Given the description of an element on the screen output the (x, y) to click on. 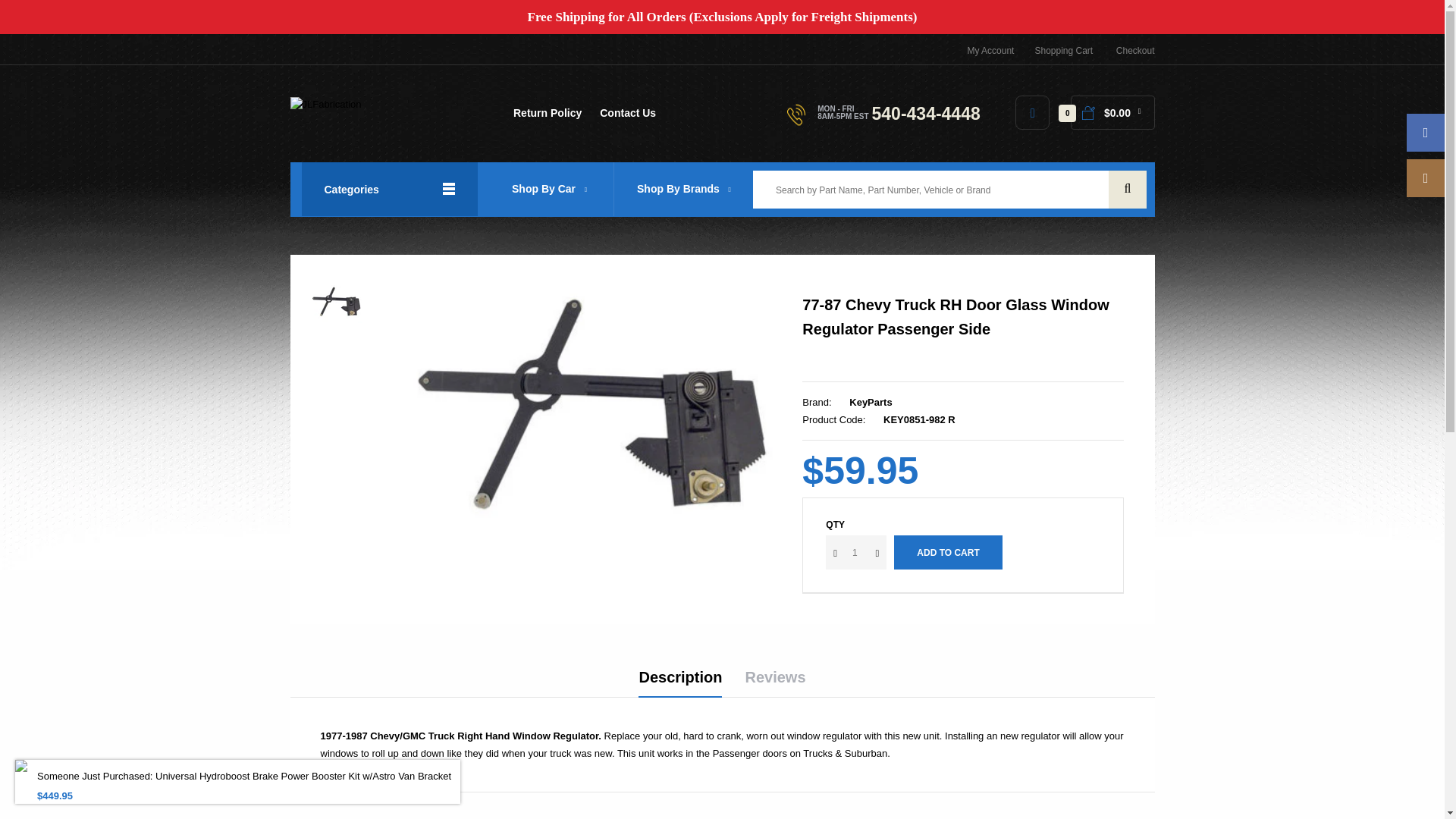
My Account (989, 50)
Add to cart (947, 552)
Shopping Cart (1063, 50)
Return Policy (547, 118)
JLFabrication (325, 105)
Contact Us (628, 118)
Checkout (1135, 50)
KeyParts (869, 401)
1 (855, 552)
JLFabrication (325, 103)
